Given the description of an element on the screen output the (x, y) to click on. 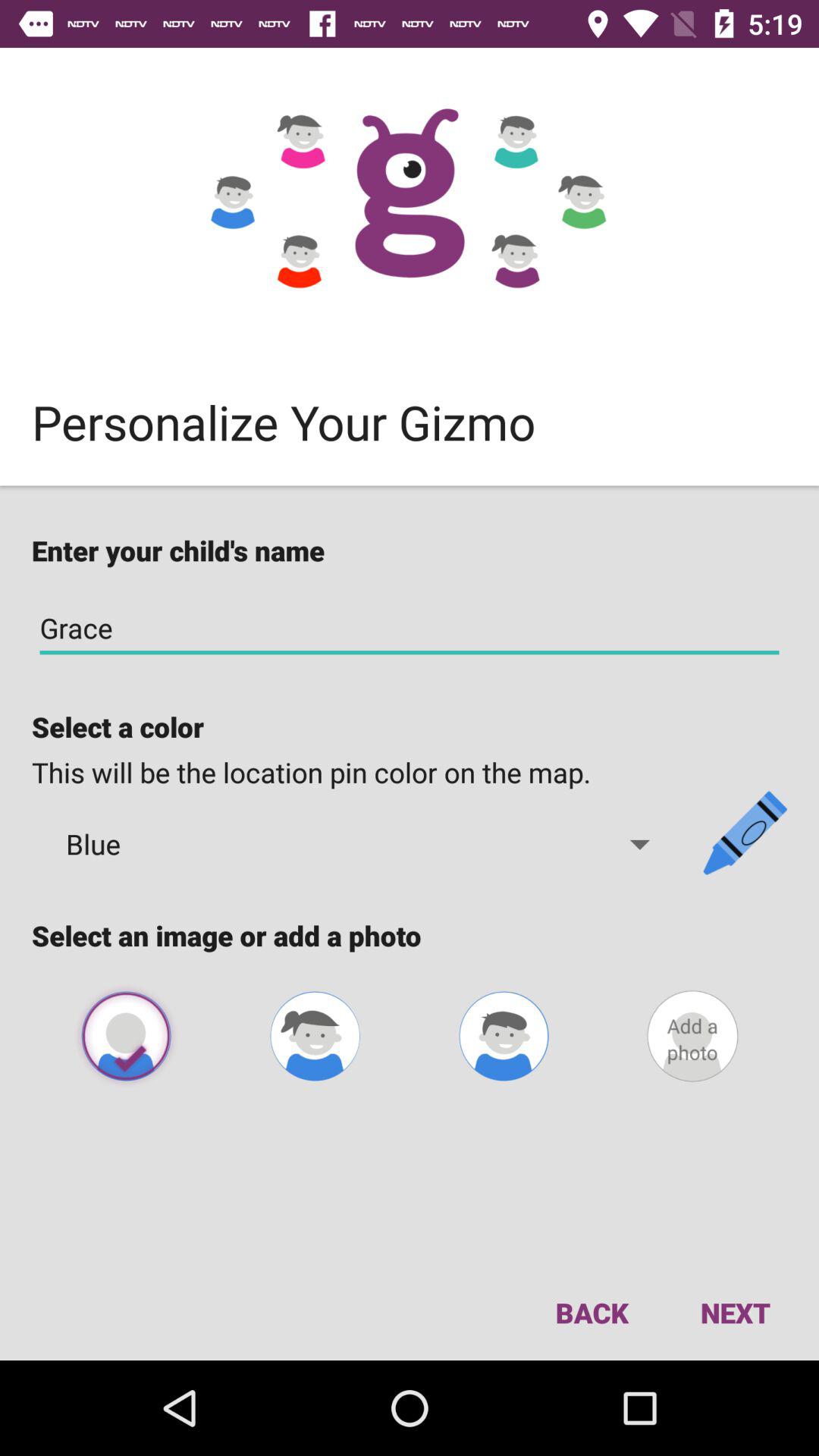
female photo (314, 1036)
